Given the description of an element on the screen output the (x, y) to click on. 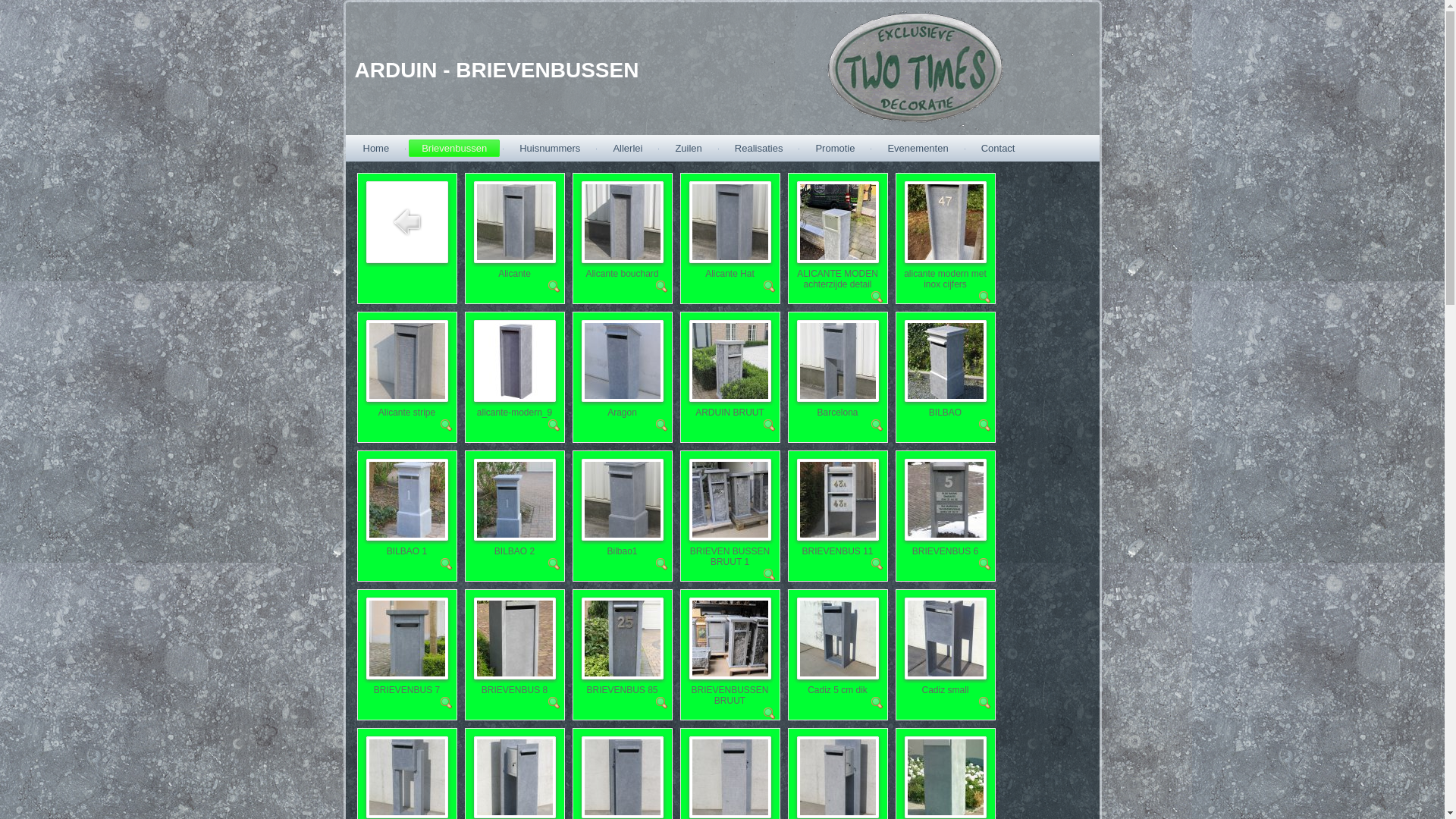
Detail Element type: hover (553, 288)
Detail Element type: hover (984, 427)
Detail Element type: hover (876, 705)
Promotie Element type: text (834, 147)
Realisaties Element type: text (758, 147)
Detail Element type: hover (984, 705)
Detail Element type: hover (876, 566)
Allerlei Element type: text (627, 147)
Detail Element type: hover (876, 427)
Evenementen Element type: text (917, 147)
Huisnummers Element type: text (549, 147)
Detail Element type: hover (445, 427)
Zuilen Element type: text (688, 147)
Detail Element type: hover (553, 705)
Contact Element type: text (998, 147)
Home Element type: text (376, 147)
Detail Element type: hover (984, 299)
Detail Element type: hover (553, 427)
Detail Element type: hover (661, 566)
Detail Element type: hover (768, 427)
Detail Element type: hover (768, 288)
Detail Element type: hover (768, 715)
Detail Element type: hover (661, 288)
Detail Element type: hover (661, 427)
Detail Element type: hover (445, 566)
ARDUIN - BRIEVENBUSSEN Element type: text (496, 69)
Detail Element type: hover (876, 299)
Detail Element type: hover (984, 566)
Detail Element type: hover (768, 577)
Detail Element type: hover (553, 566)
Detail Element type: hover (661, 705)
Brievenbussen Element type: text (453, 147)
Detail Element type: hover (445, 705)
